Given the description of an element on the screen output the (x, y) to click on. 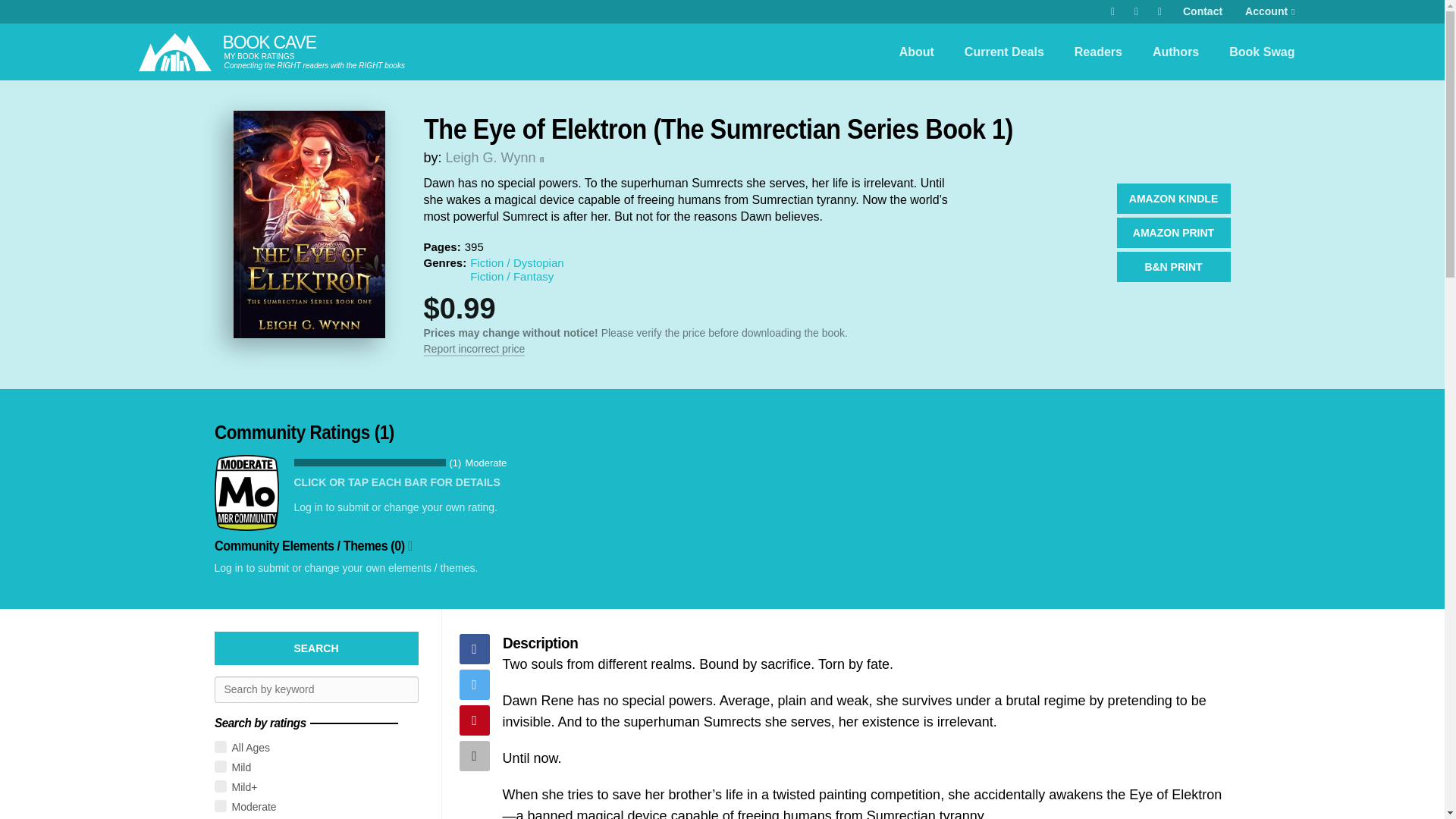
Pin It on Pinterest (474, 720)
Share on Facebook (474, 648)
Contact (1202, 11)
Share through email (474, 756)
BOOK CAVE (268, 42)
MY BOOK RATINGS (259, 56)
Readers (1098, 51)
Account (1269, 11)
About (916, 51)
Current Deals (1004, 51)
Tweet This (474, 684)
